Given the description of an element on the screen output the (x, y) to click on. 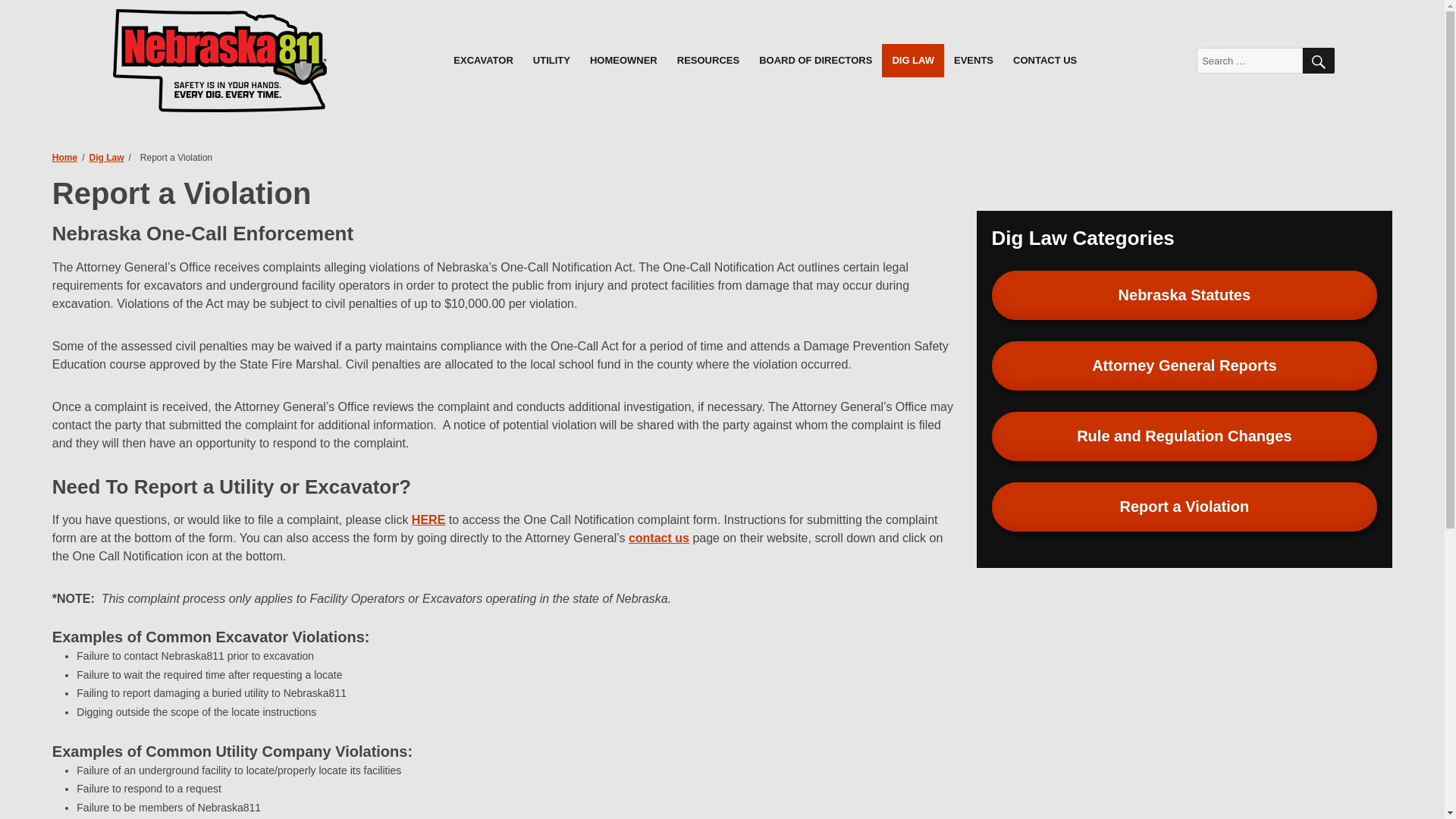
NE811 Website (221, 60)
RESOURCES (707, 60)
EXCAVATOR (483, 60)
HOMEOWNER (622, 60)
UTILITY (550, 60)
